Given the description of an element on the screen output the (x, y) to click on. 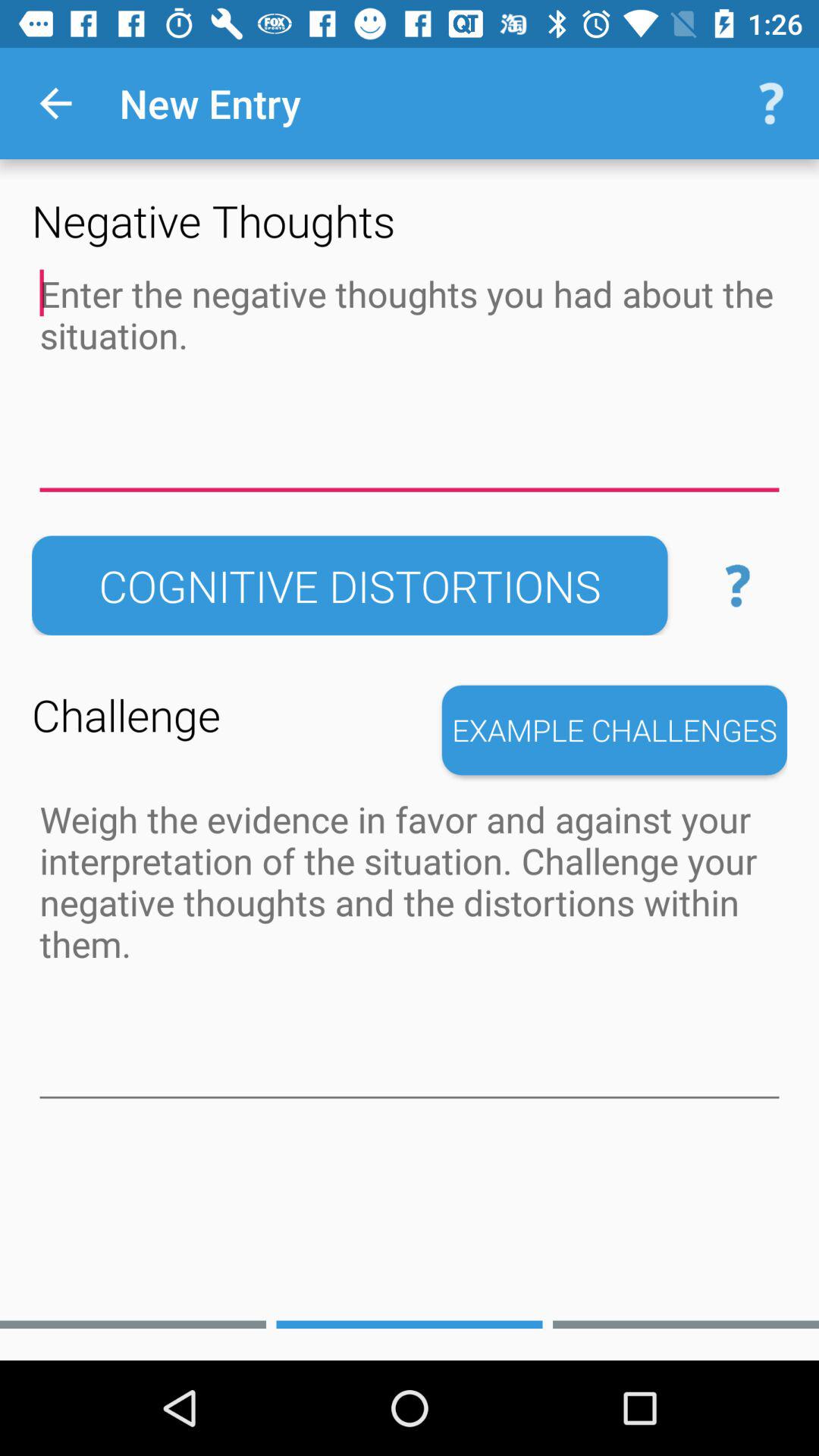
press app to the right of new entry item (771, 103)
